Given the description of an element on the screen output the (x, y) to click on. 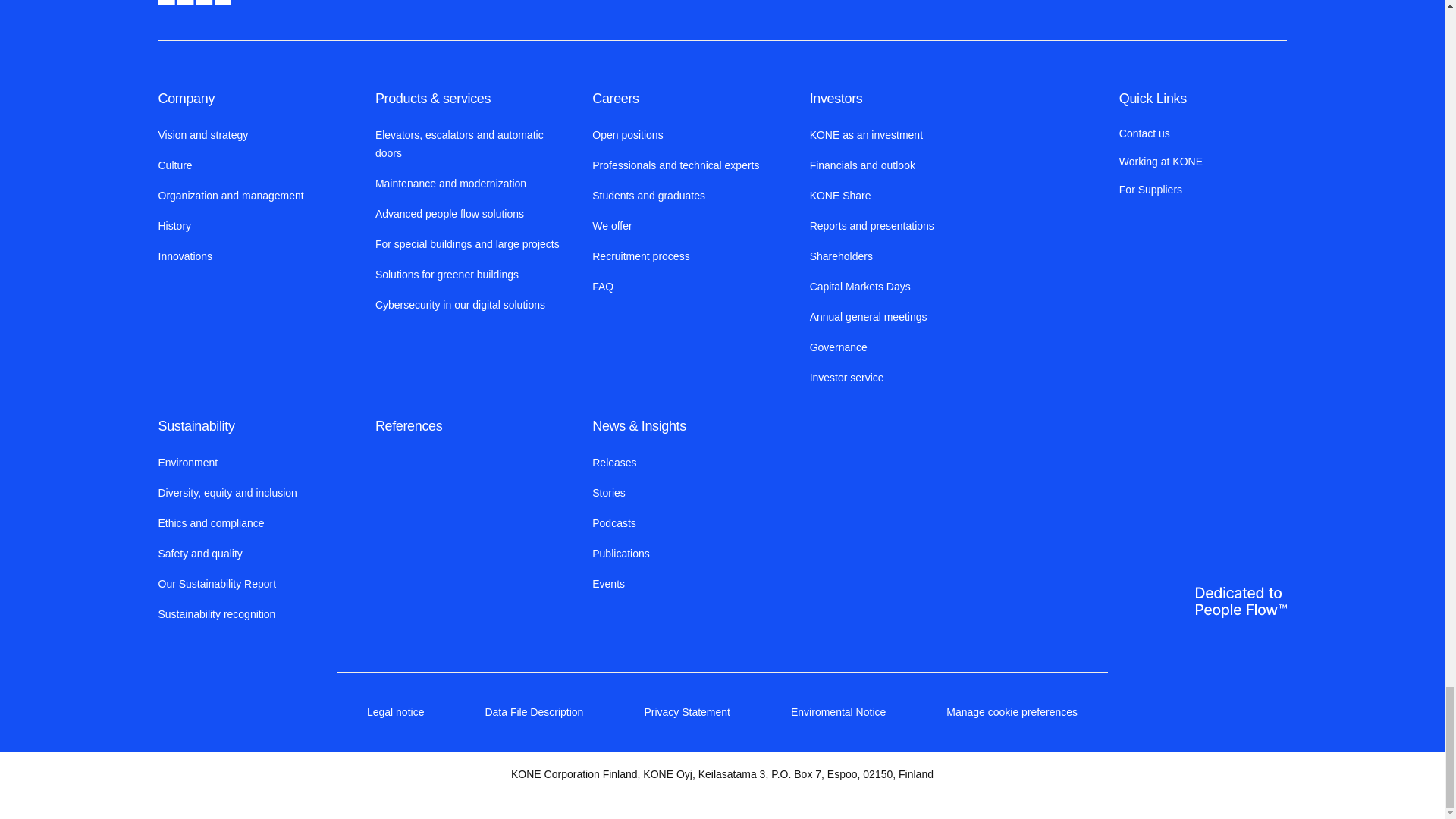
KONE (193, 2)
